Given the description of an element on the screen output the (x, y) to click on. 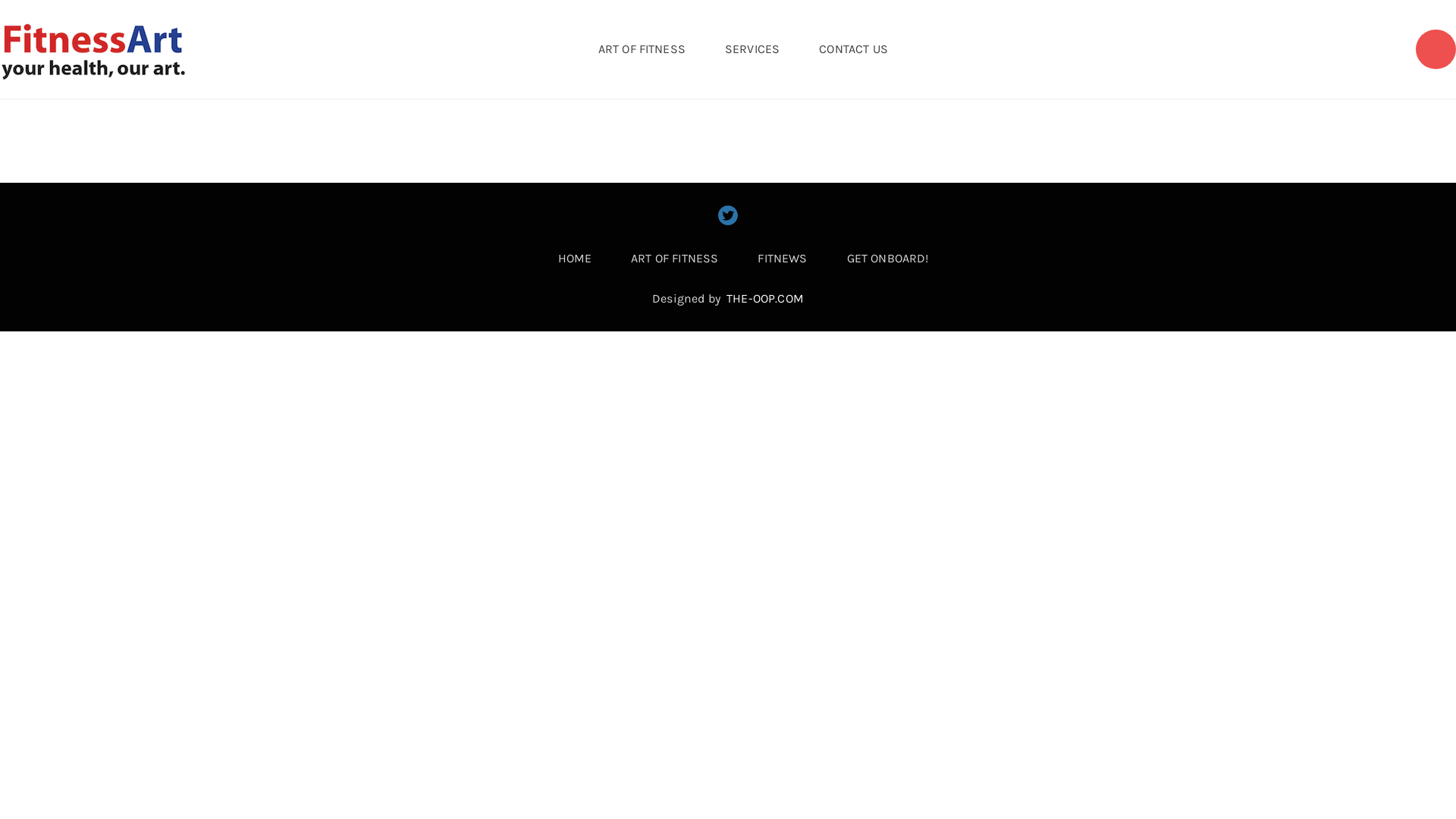
ART OF FITNESS Element type: text (674, 258)
THE-OOP.COM Element type: text (764, 298)
ART OF FITNESS Element type: text (641, 49)
FitnessArt logo-1 2 Element type: hover (94, 49)
HOME Element type: text (574, 258)
Twitter Element type: hover (727, 215)
FITNEWS Element type: text (781, 258)
CONTACT US Element type: text (853, 49)
GET ONBOARD! Element type: text (887, 258)
SERVICES Element type: text (752, 49)
